Given the description of an element on the screen output the (x, y) to click on. 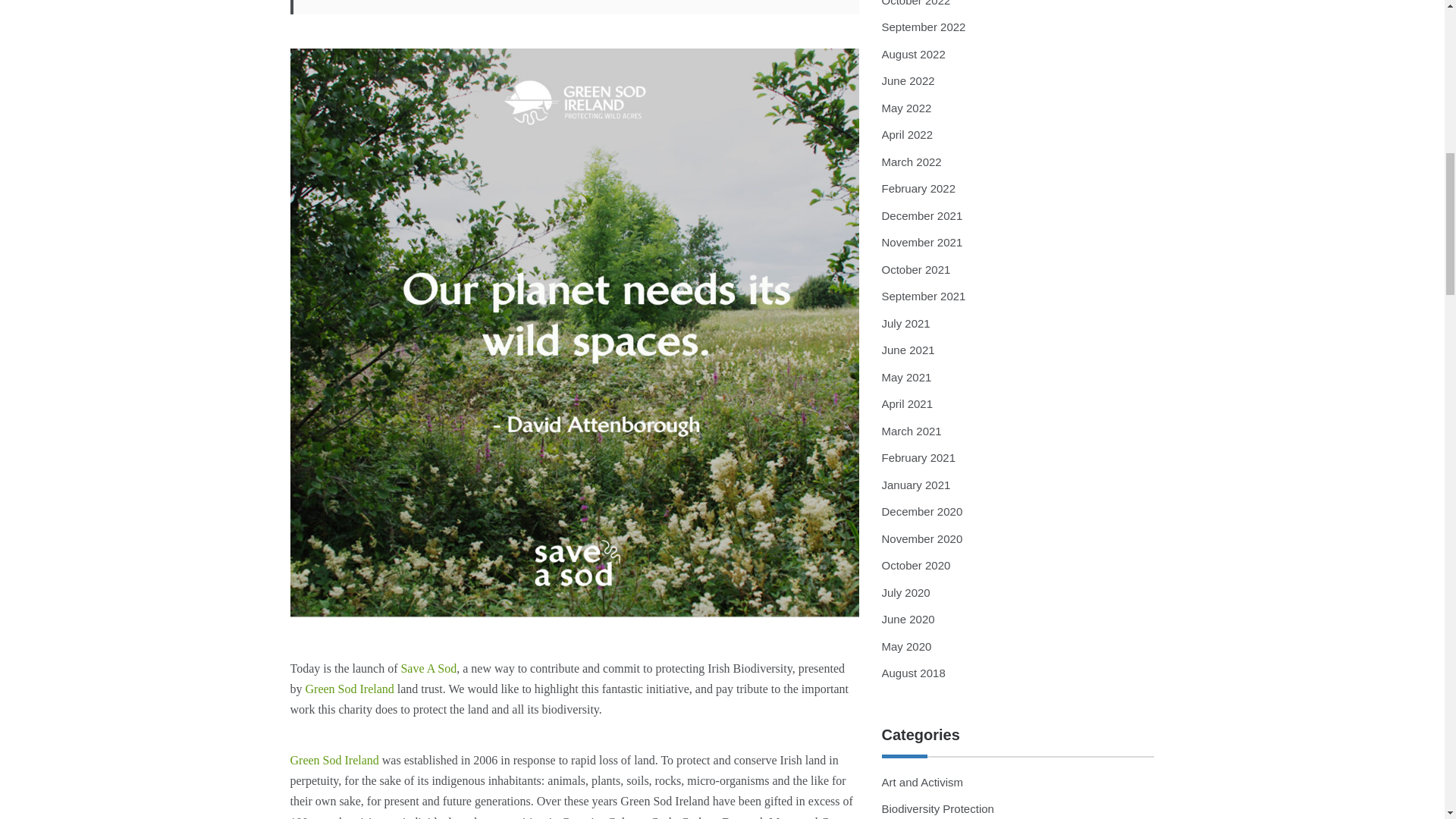
Green Sod Ireland (333, 759)
Green Sod Ireland (348, 688)
Save A Sod (428, 667)
